Given the description of an element on the screen output the (x, y) to click on. 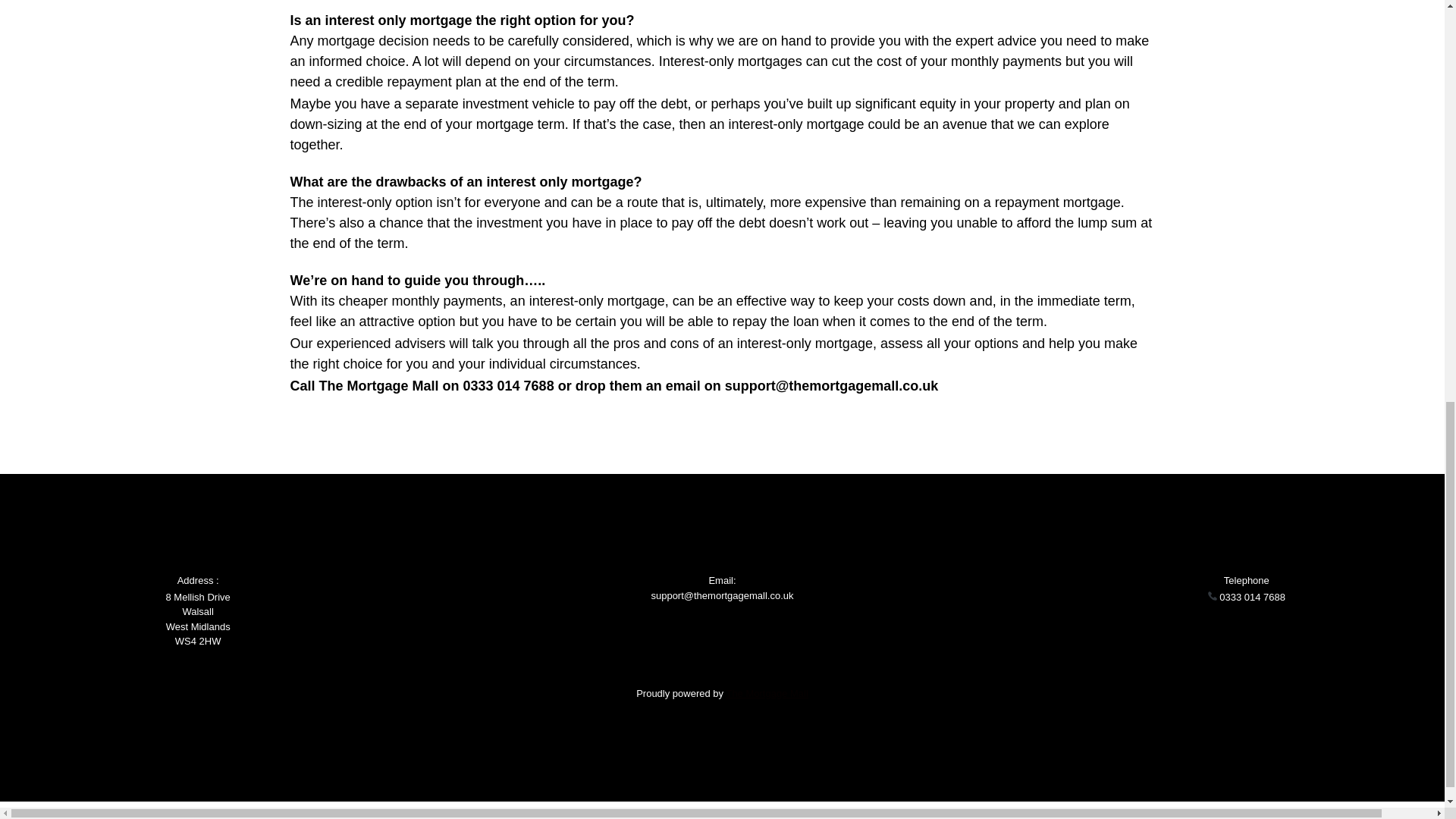
The Mortgage Mall (766, 693)
